Given the description of an element on the screen output the (x, y) to click on. 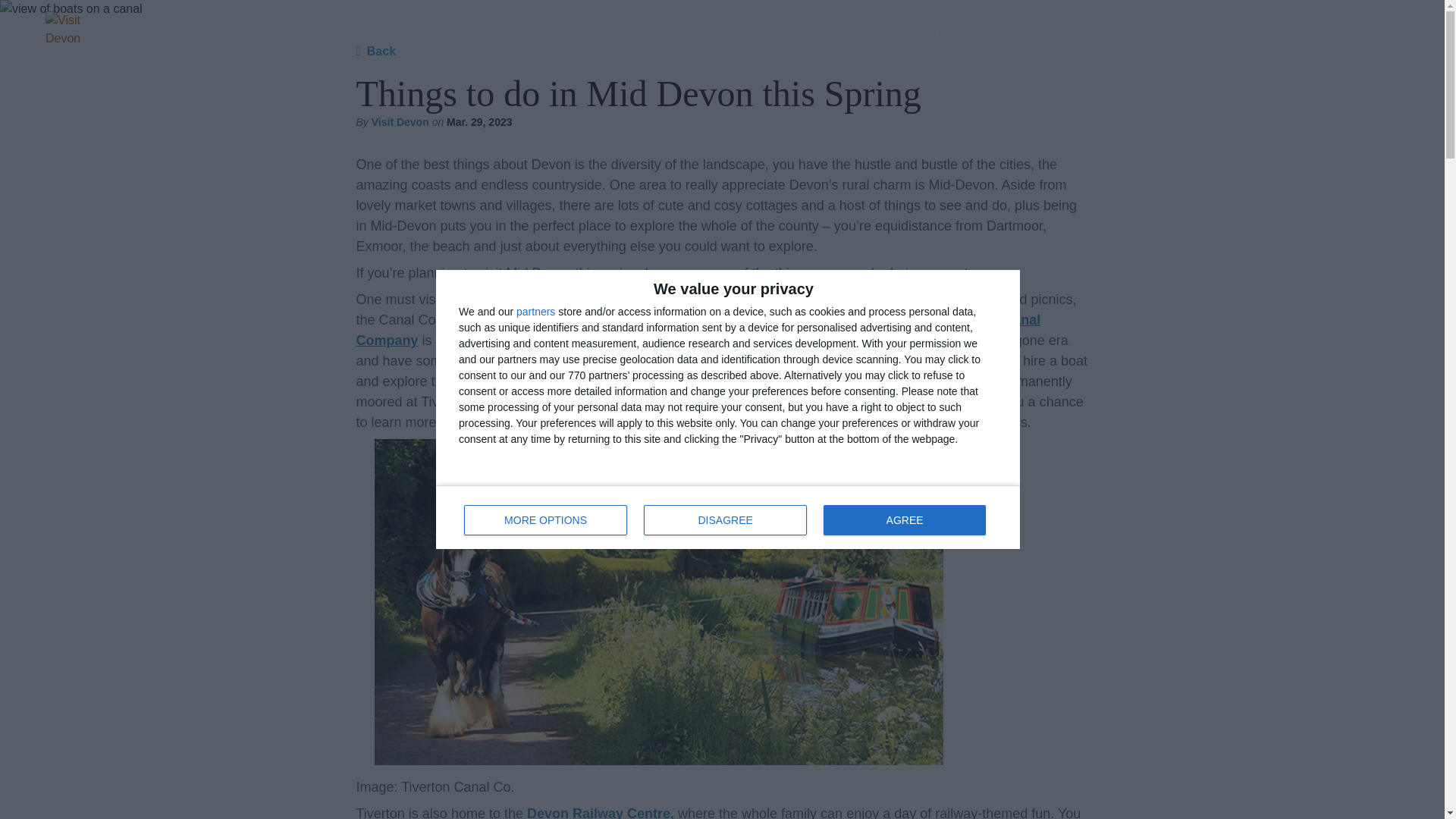
What's On (727, 516)
DISAGREE (1177, 30)
AGREE (724, 520)
MORE OPTIONS (904, 520)
partners (545, 520)
Things to Do (535, 311)
Menu (953, 30)
Places to stay (1367, 30)
